Given the description of an element on the screen output the (x, y) to click on. 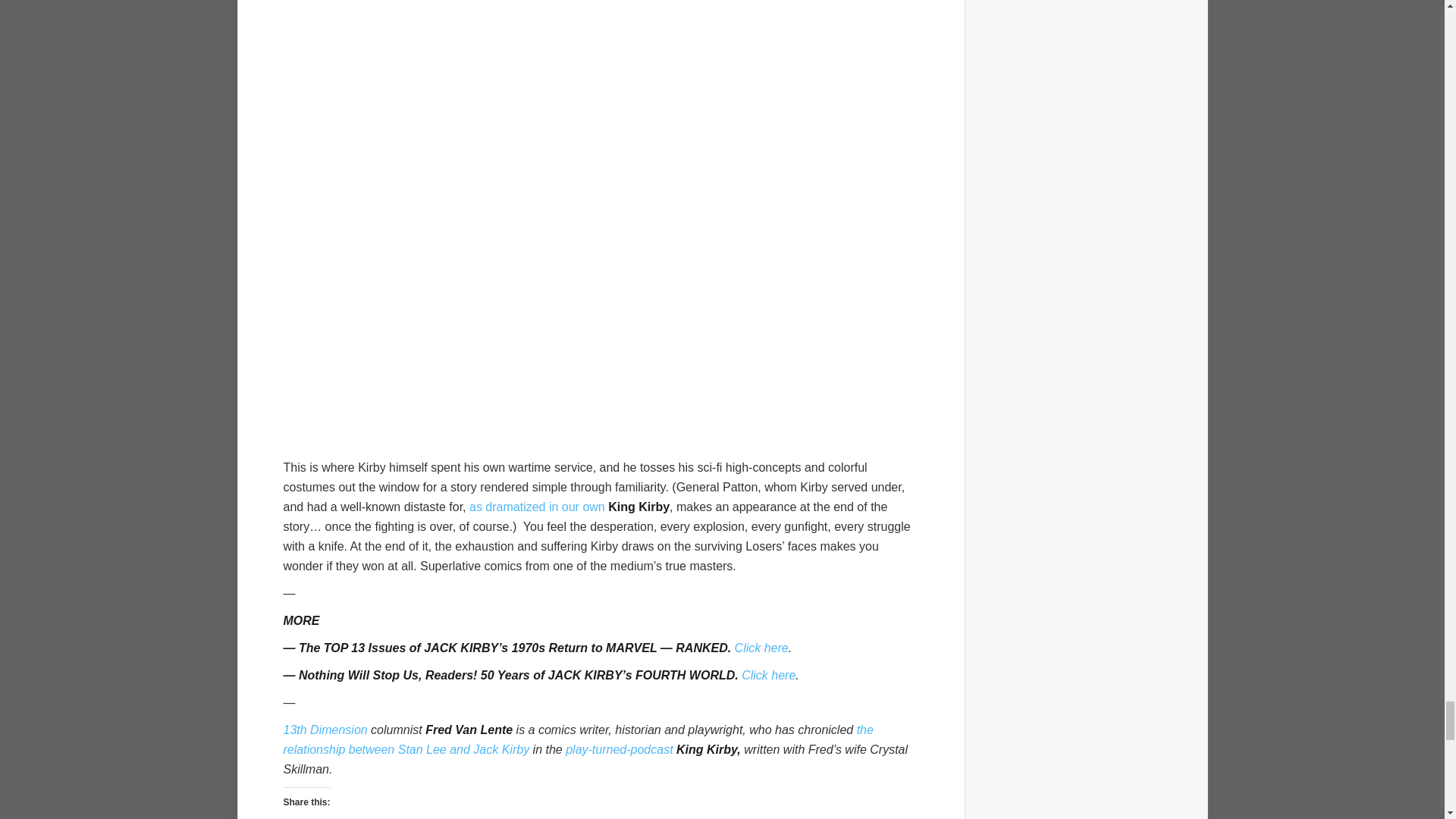
Click here (762, 647)
13th Dimension (325, 729)
play-turned-podcast (619, 748)
the relationship between Stan Lee and Jack Kirby (578, 739)
as dramatized in our own King Kirby (568, 506)
Click here (767, 675)
